Given the description of an element on the screen output the (x, y) to click on. 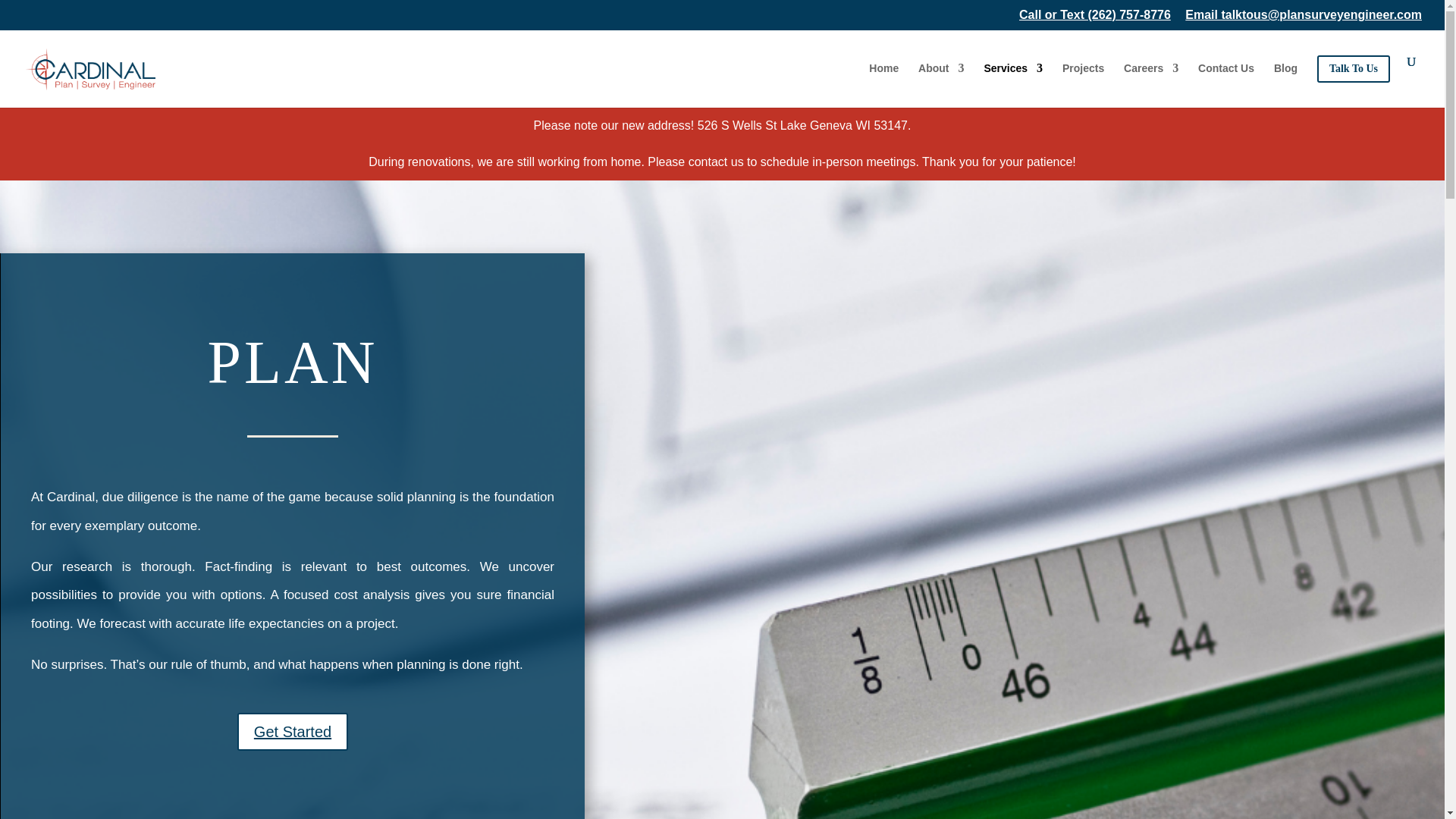
Talk To Us (1353, 81)
Careers (1150, 80)
Contact Us (1225, 80)
Services (1013, 80)
About (940, 80)
Get Started (292, 731)
Projects (1082, 80)
